Given the description of an element on the screen output the (x, y) to click on. 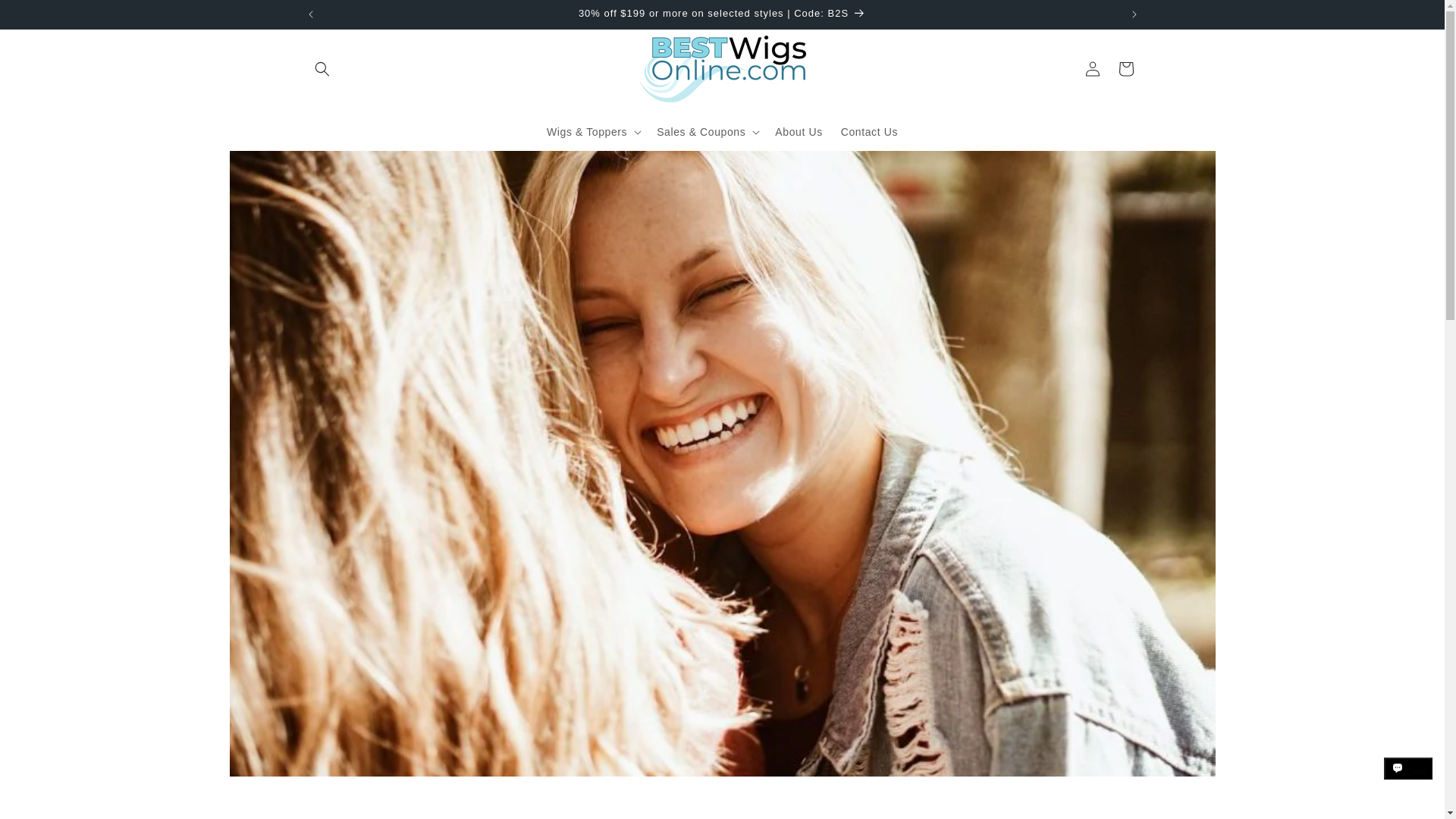
Shopify online store chat (1408, 781)
